Given the description of an element on the screen output the (x, y) to click on. 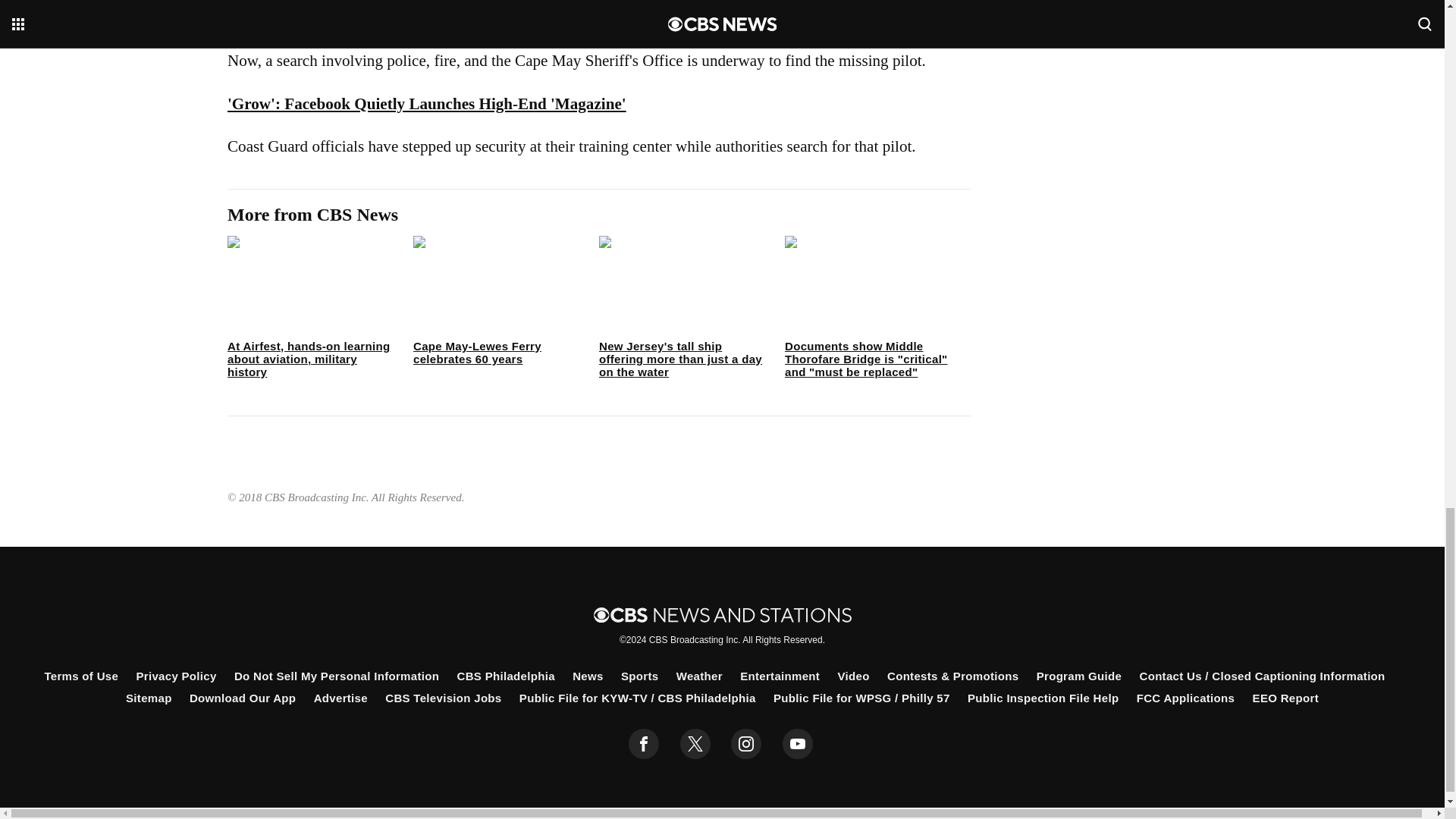
facebook (643, 743)
youtube (797, 743)
twitter (694, 743)
instagram (745, 743)
